Given the description of an element on the screen output the (x, y) to click on. 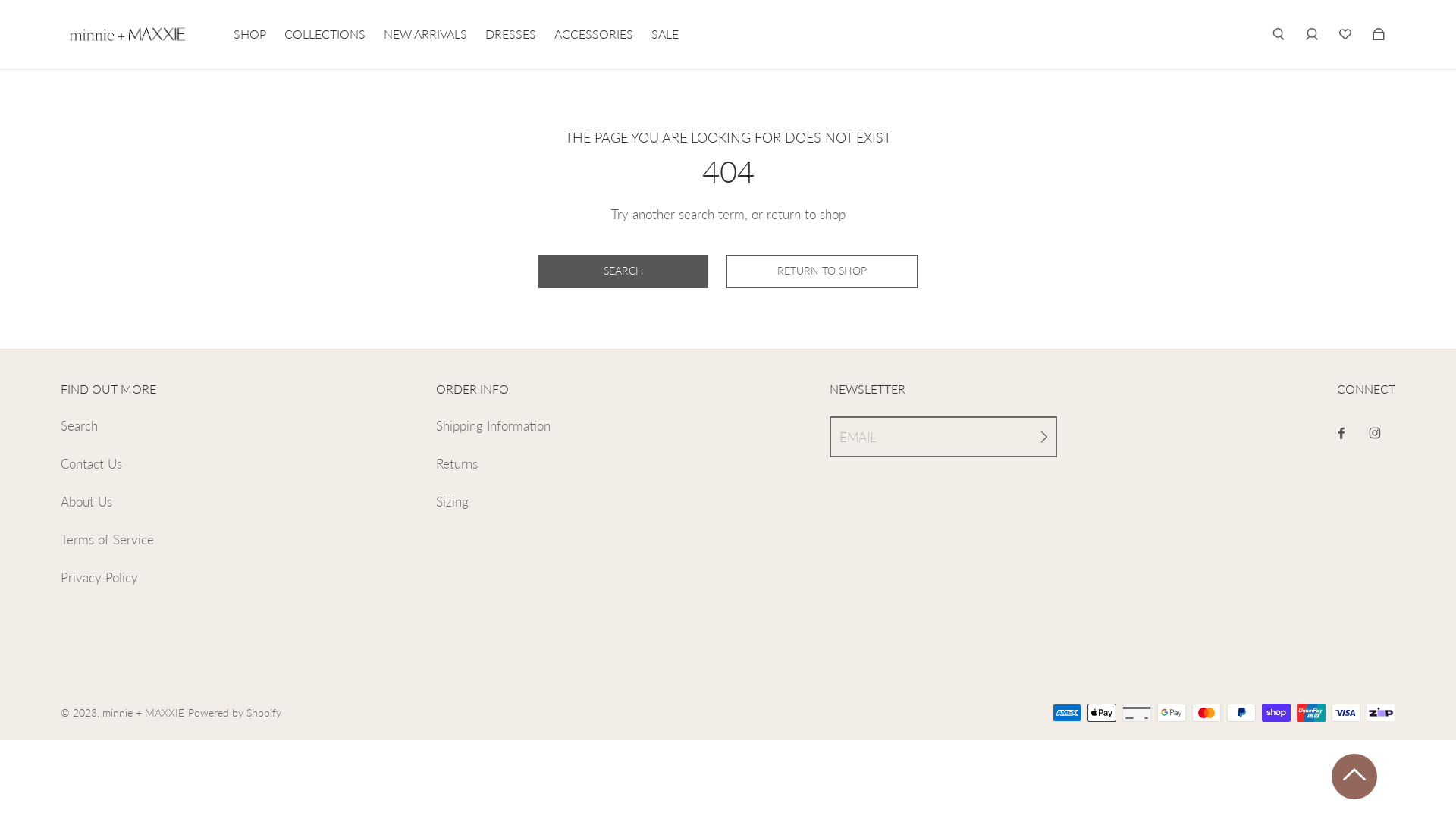
SALE Element type: text (664, 34)
SHOP Element type: text (249, 34)
Shipping Information Element type: text (493, 426)
Contact Us Element type: text (91, 463)
minnie + MAXXIE Element type: text (143, 713)
RETURN TO SHOP Element type: text (821, 271)
Sizing Element type: text (452, 501)
Privacy Policy Element type: text (99, 577)
COLLECTIONS Element type: text (324, 34)
About Us Element type: text (86, 501)
SEARCH Element type: text (623, 271)
Search Element type: text (78, 426)
NEW ARRIVALS Element type: text (425, 34)
DRESSES Element type: text (510, 34)
ACCESSORIES Element type: text (593, 34)
Terms of Service Element type: text (106, 539)
Powered by Shopify Element type: text (234, 713)
Returns Element type: text (456, 463)
